Given the description of an element on the screen output the (x, y) to click on. 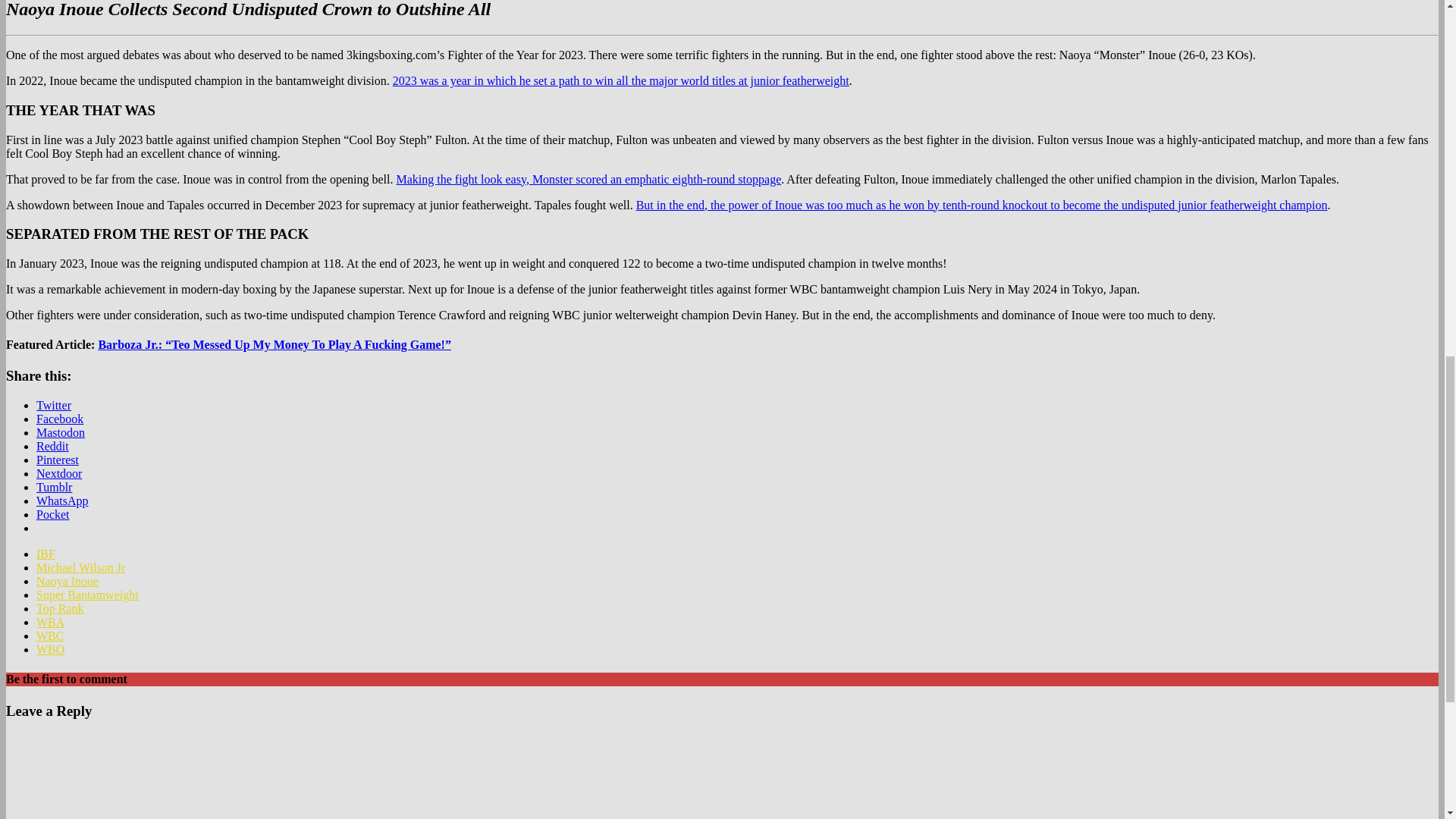
Twitter (53, 404)
